Given the description of an element on the screen output the (x, y) to click on. 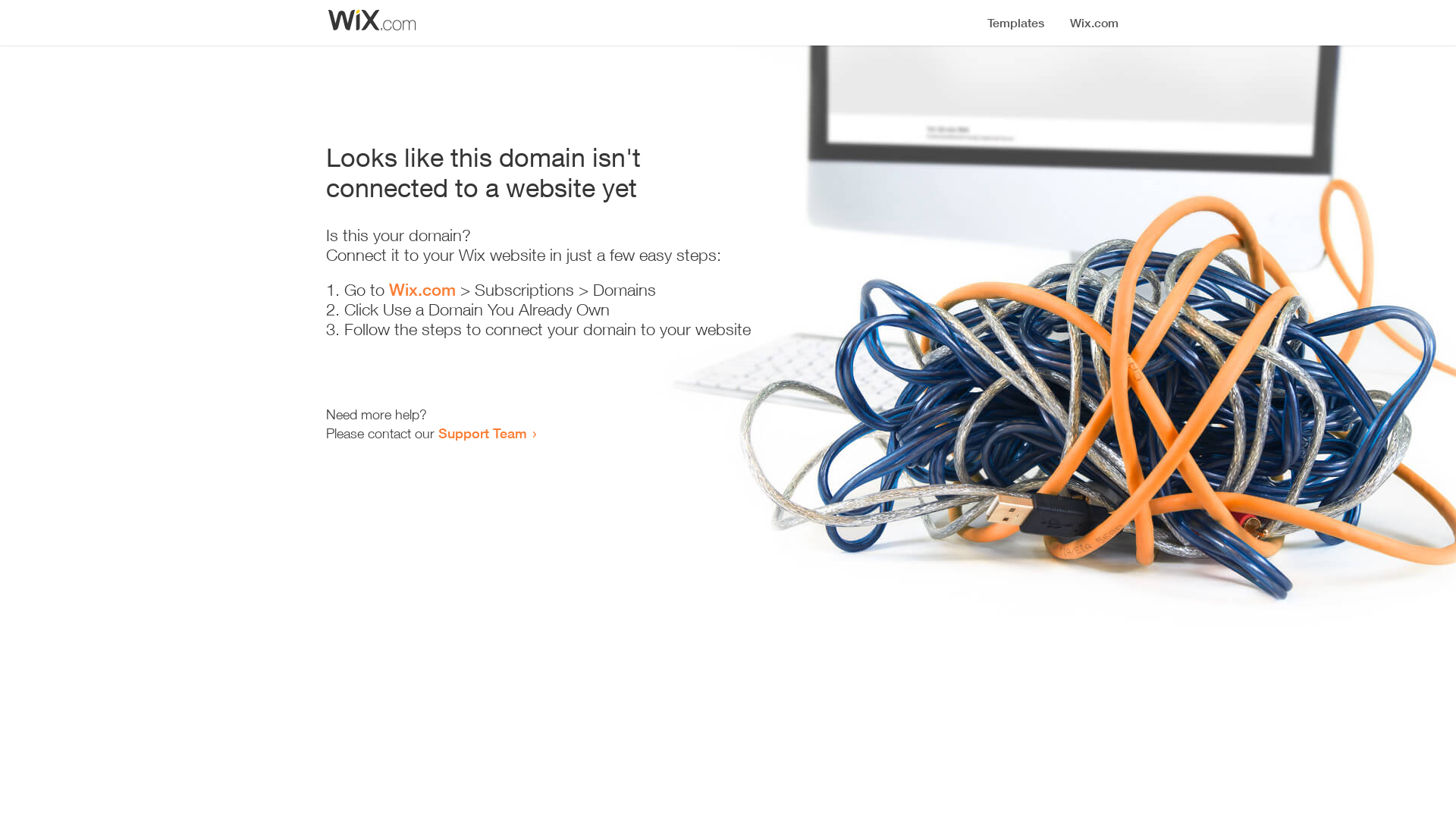
Support Team Element type: text (482, 432)
Wix.com Element type: text (422, 289)
